Given the description of an element on the screen output the (x, y) to click on. 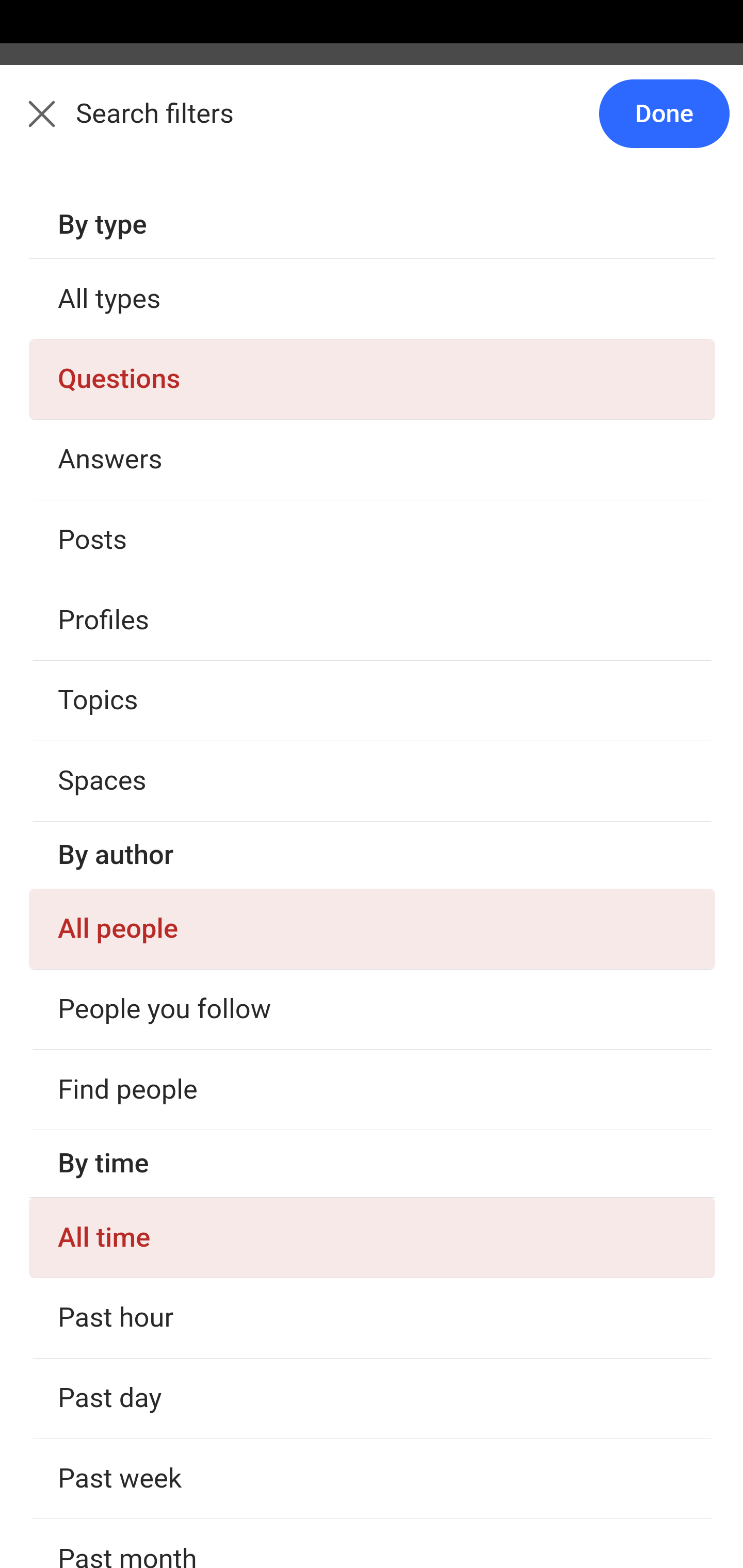
Back Search (371, 125)
What is blockchain technology? (372, 457)
Answer (125, 563)
Answer (125, 848)
Where do I learn about Blockchain? (372, 940)
Answer (125, 1483)
